Given the description of an element on the screen output the (x, y) to click on. 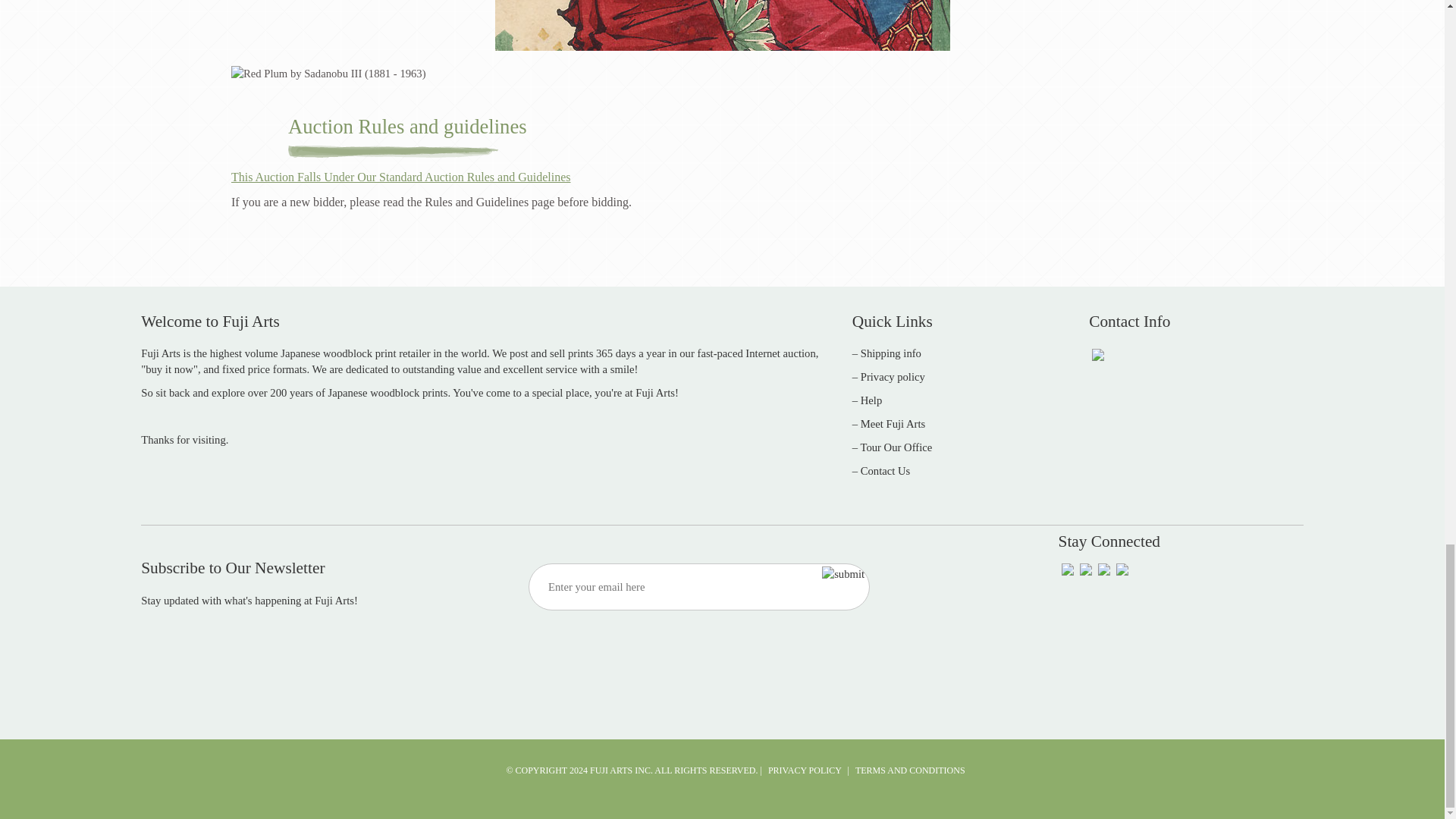
PRIVACY POLICY (805, 770)
Shipping info (890, 353)
Help (871, 399)
Privacy policy (892, 377)
Meet Fuji Arts (893, 423)
Tour Our Office (895, 447)
Contact Us (885, 470)
TERMS AND CONDITIONS (910, 770)
